Given the description of an element on the screen output the (x, y) to click on. 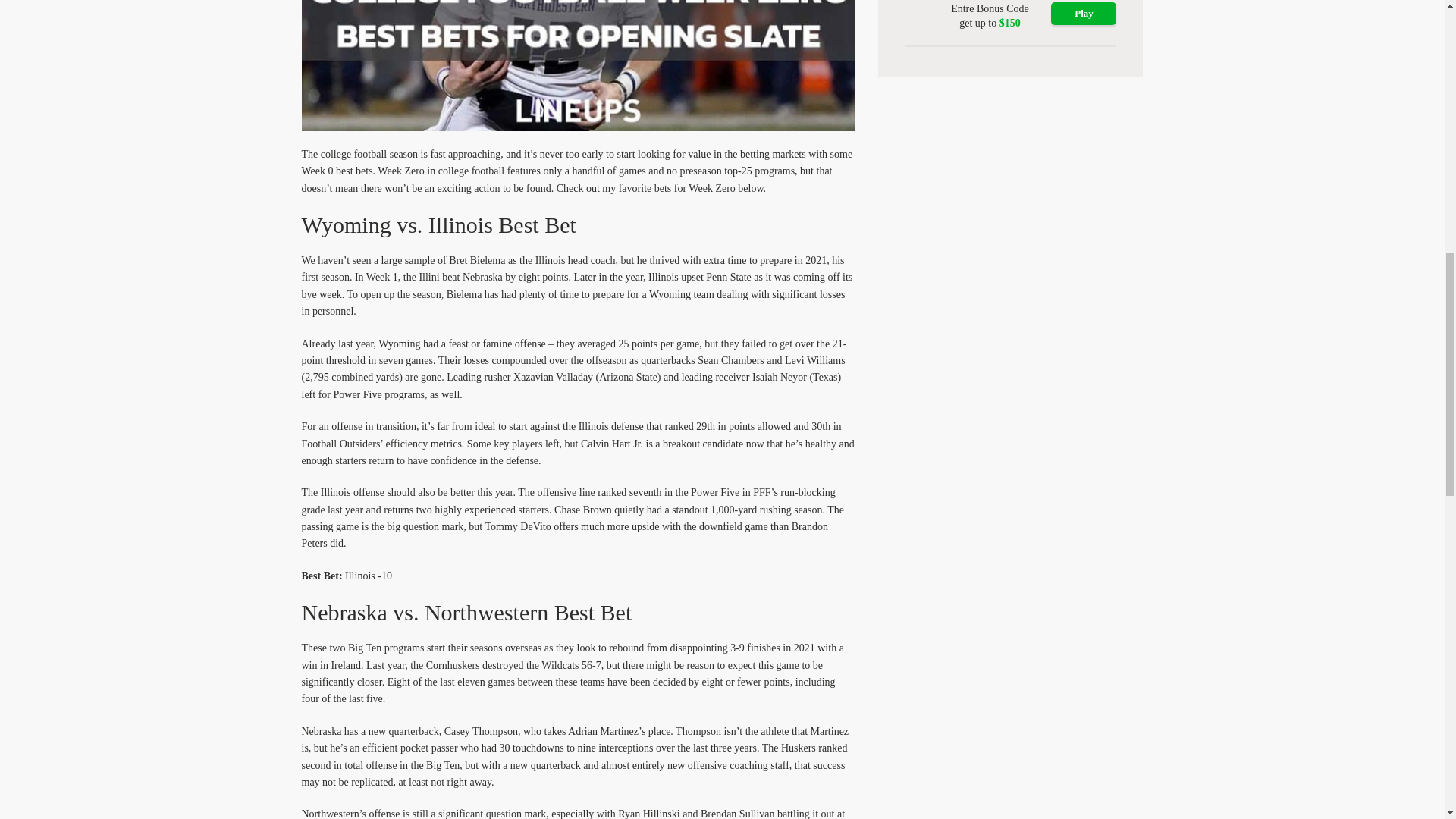
Play (1083, 13)
